Given the description of an element on the screen output the (x, y) to click on. 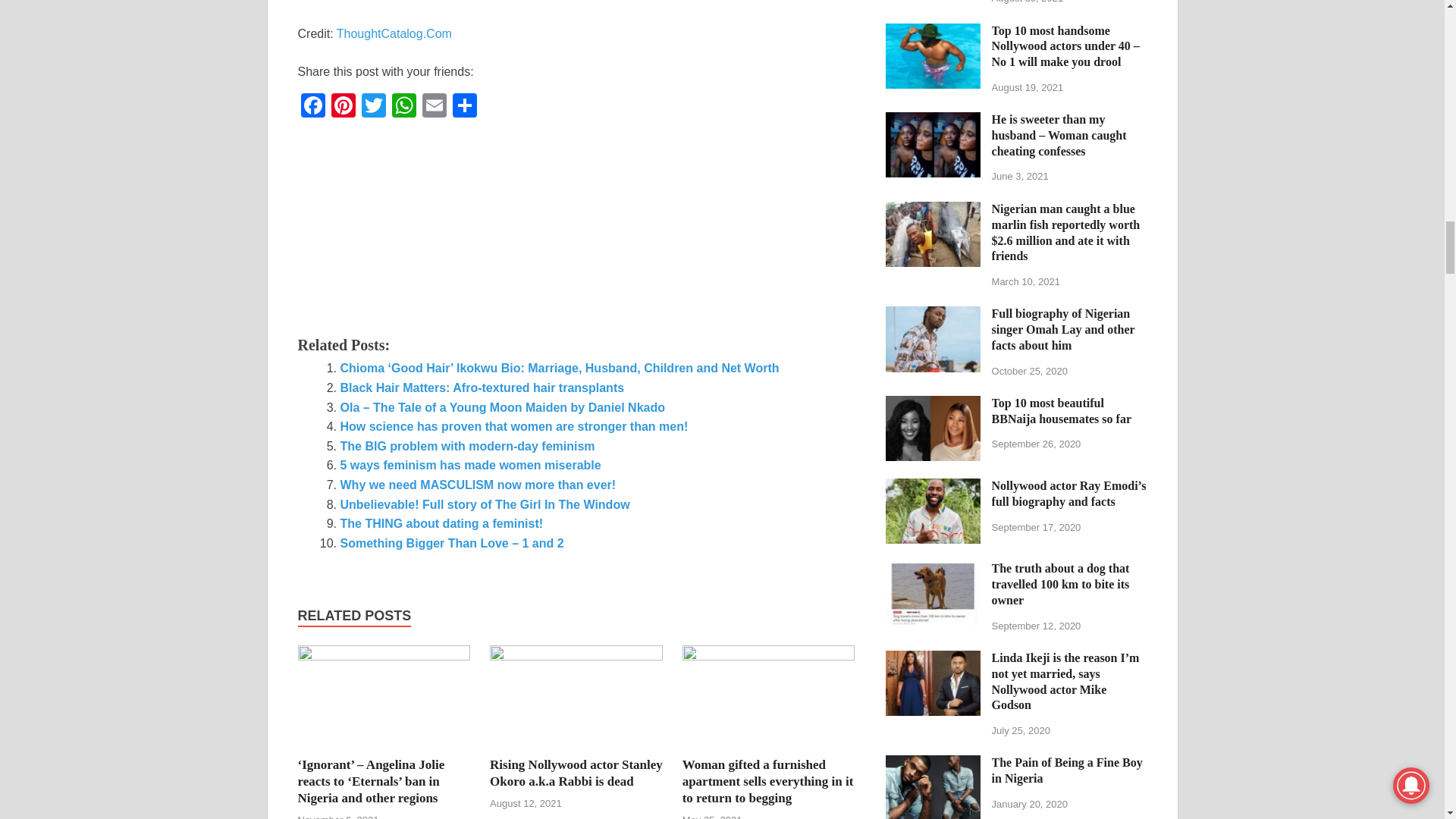
Black Hair Matters: Afro-textured hair transplants (481, 387)
WhatsApp (403, 107)
Facebook (312, 107)
Why we need MASCULISM now more than ever! (477, 484)
Twitter (373, 107)
Twitter (373, 107)
Email (433, 107)
The BIG problem with modern-day feminism (466, 445)
Pinterest (342, 107)
How science has proven that women are stronger than men! (513, 426)
Pinterest (342, 107)
The THING about dating a feminist! (441, 522)
Unbelievable! Full story of The Girl In The Window (483, 504)
Facebook (312, 107)
5 ways feminism has made women miserable (469, 464)
